Given the description of an element on the screen output the (x, y) to click on. 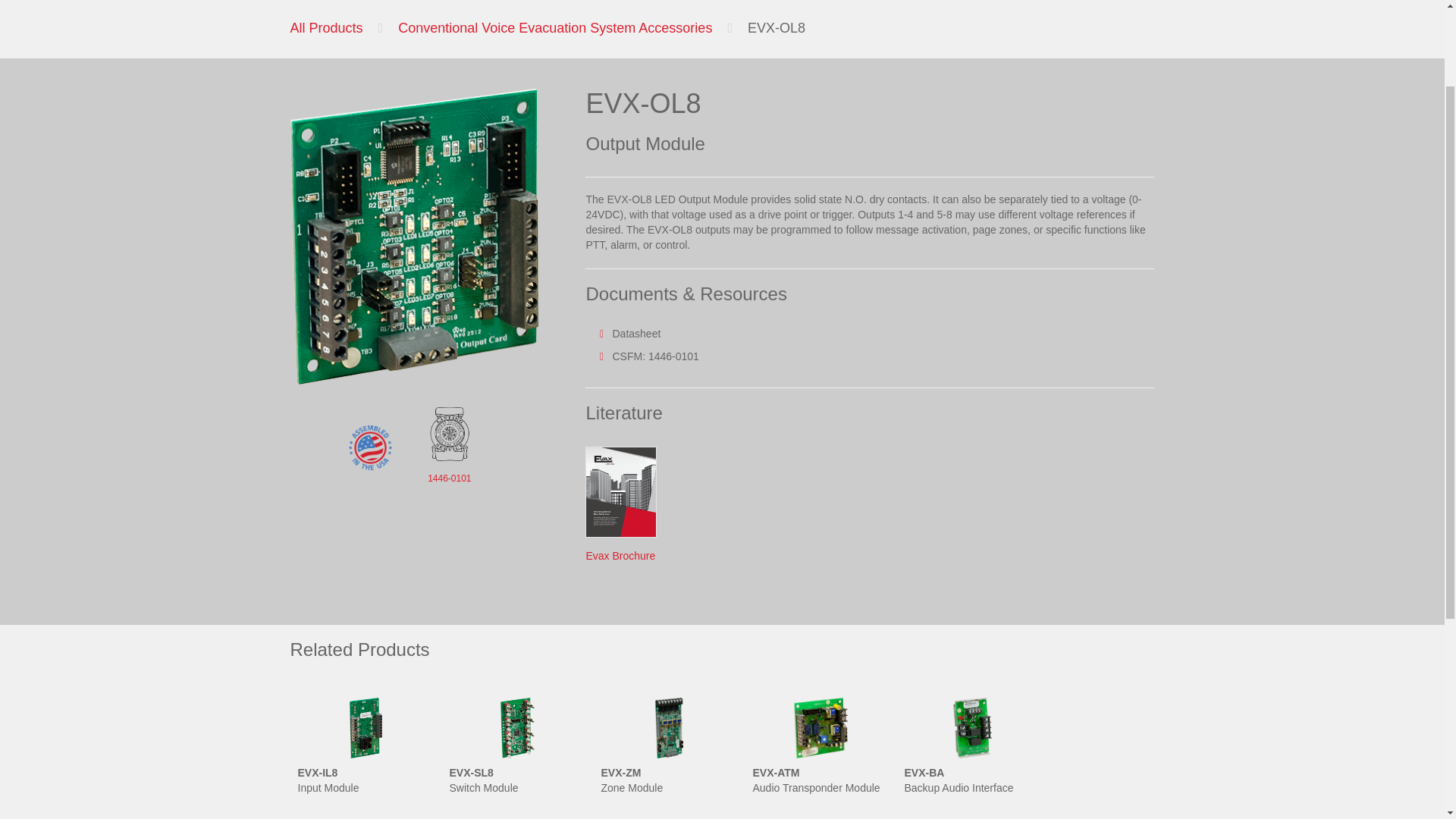
Datasheet (636, 333)
CSFM: 1446-0101 (654, 356)
1446-0101 (449, 478)
Conventional Voice Evacuation System Accessories (554, 28)
All Products (325, 28)
Evax Brochure (620, 555)
